Given the description of an element on the screen output the (x, y) to click on. 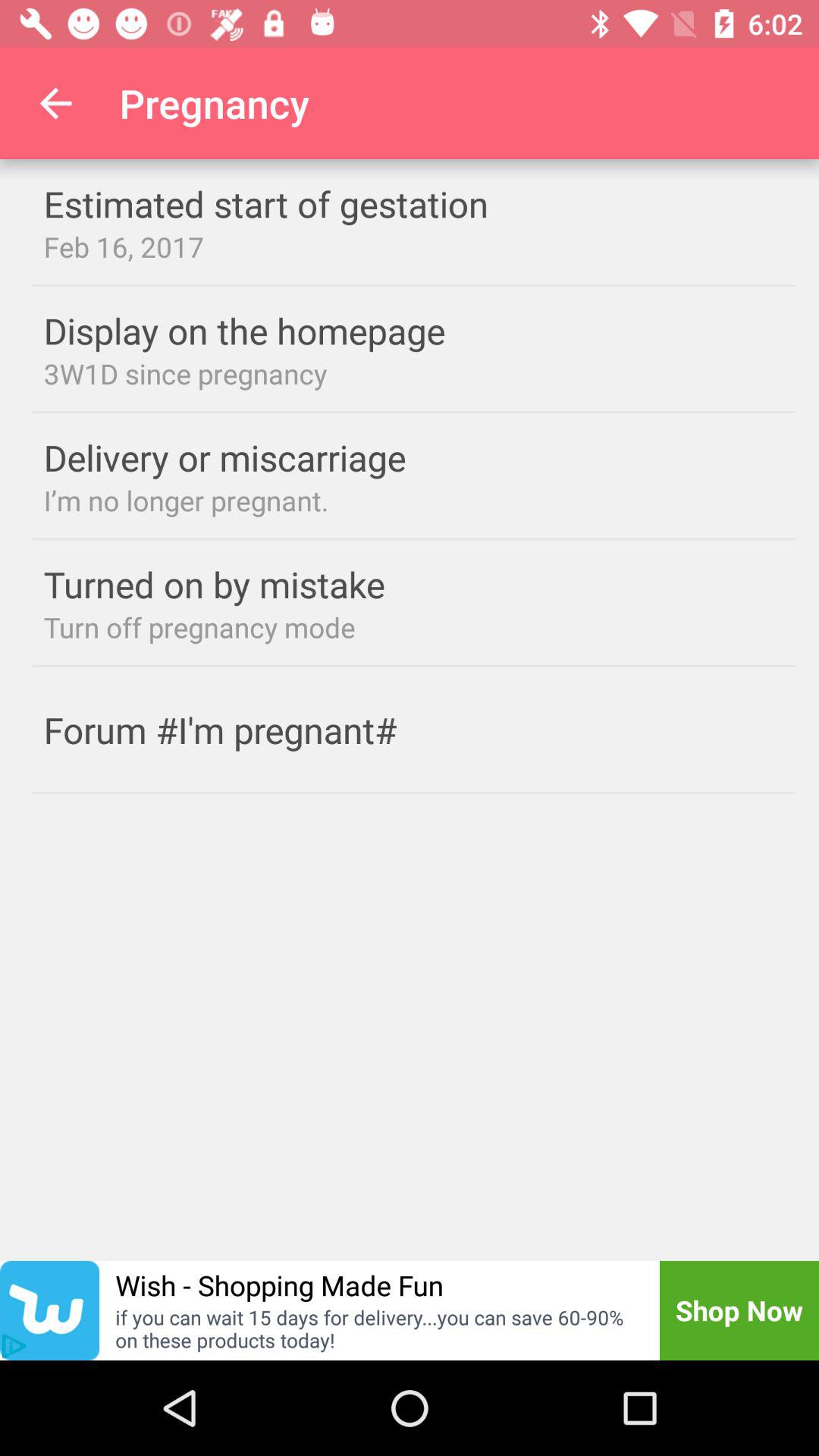
go to wish website (49, 1310)
